Given the description of an element on the screen output the (x, y) to click on. 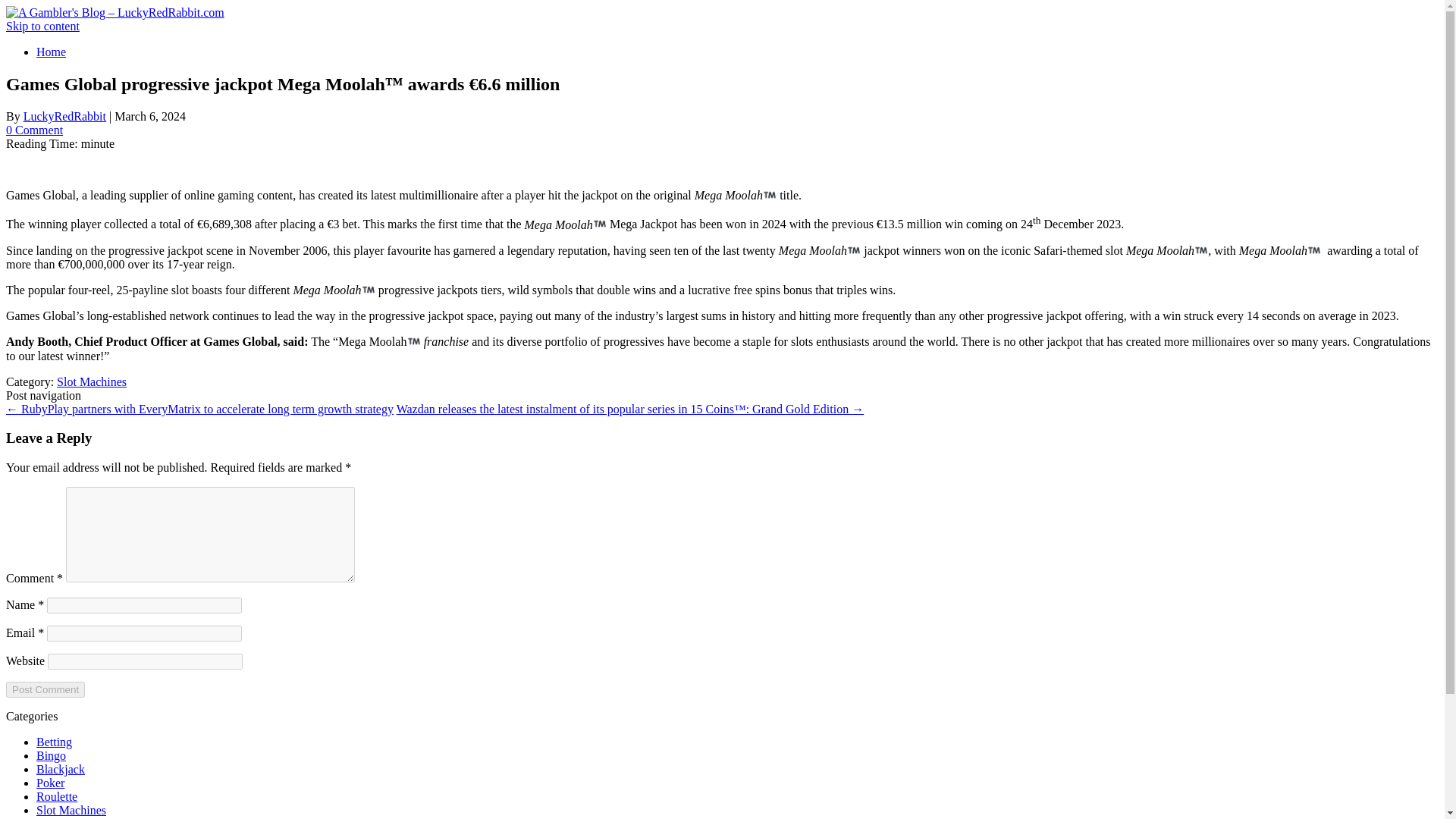
Skip to content (42, 25)
Slot Machines (71, 809)
Skip to content (42, 25)
Slot Machines (91, 381)
Poker (50, 782)
Posts by LuckyRedRabbit (64, 115)
LuckyRedRabbit (64, 115)
Post Comment (44, 689)
Blackjack (60, 768)
0 Comment (33, 129)
Roulette (56, 796)
Betting (53, 741)
Home (50, 51)
Bingo (50, 755)
Post Comment (44, 689)
